Given the description of an element on the screen output the (x, y) to click on. 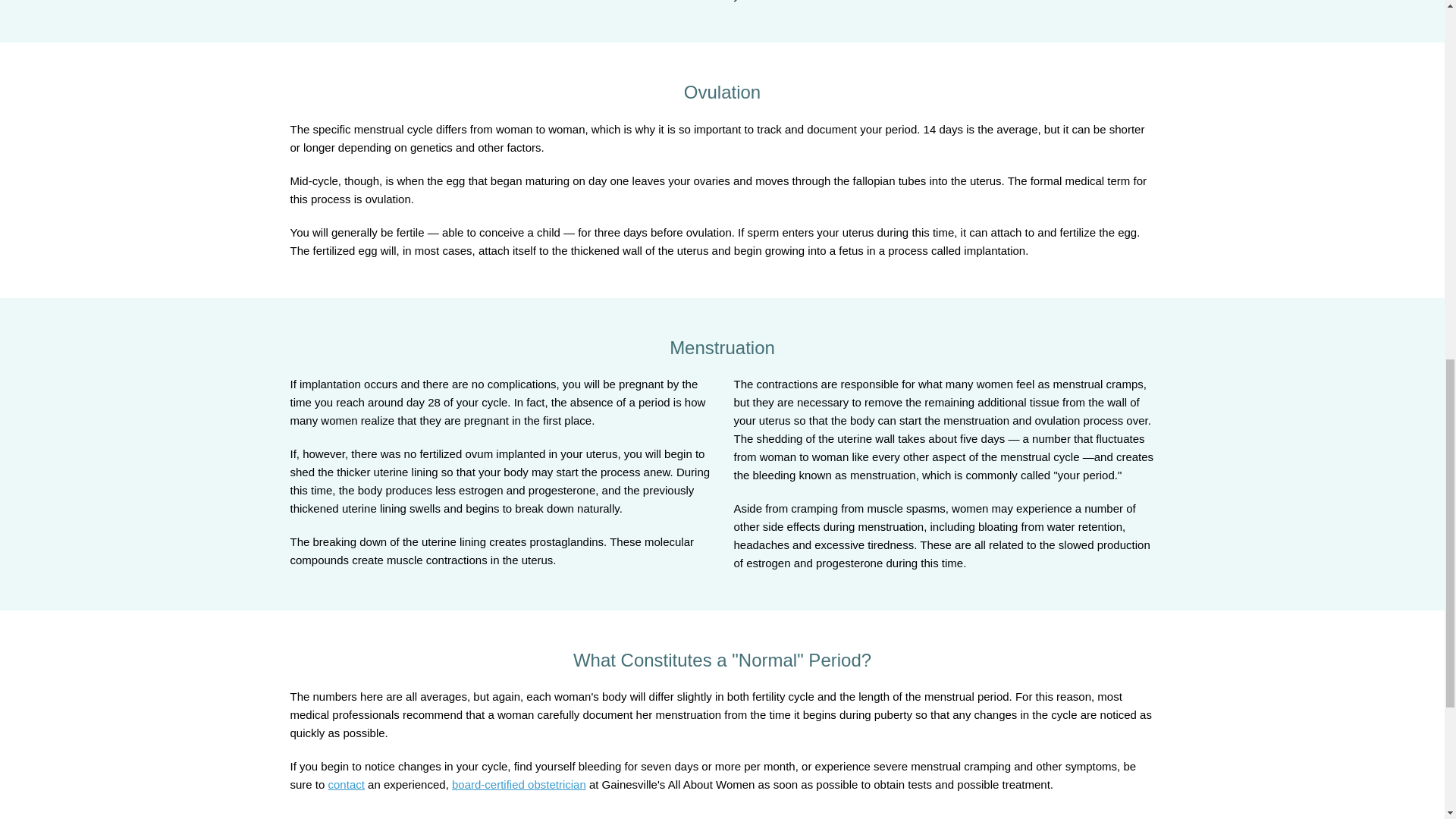
board-certified obstetrician (518, 784)
contact (347, 784)
